Given the description of an element on the screen output the (x, y) to click on. 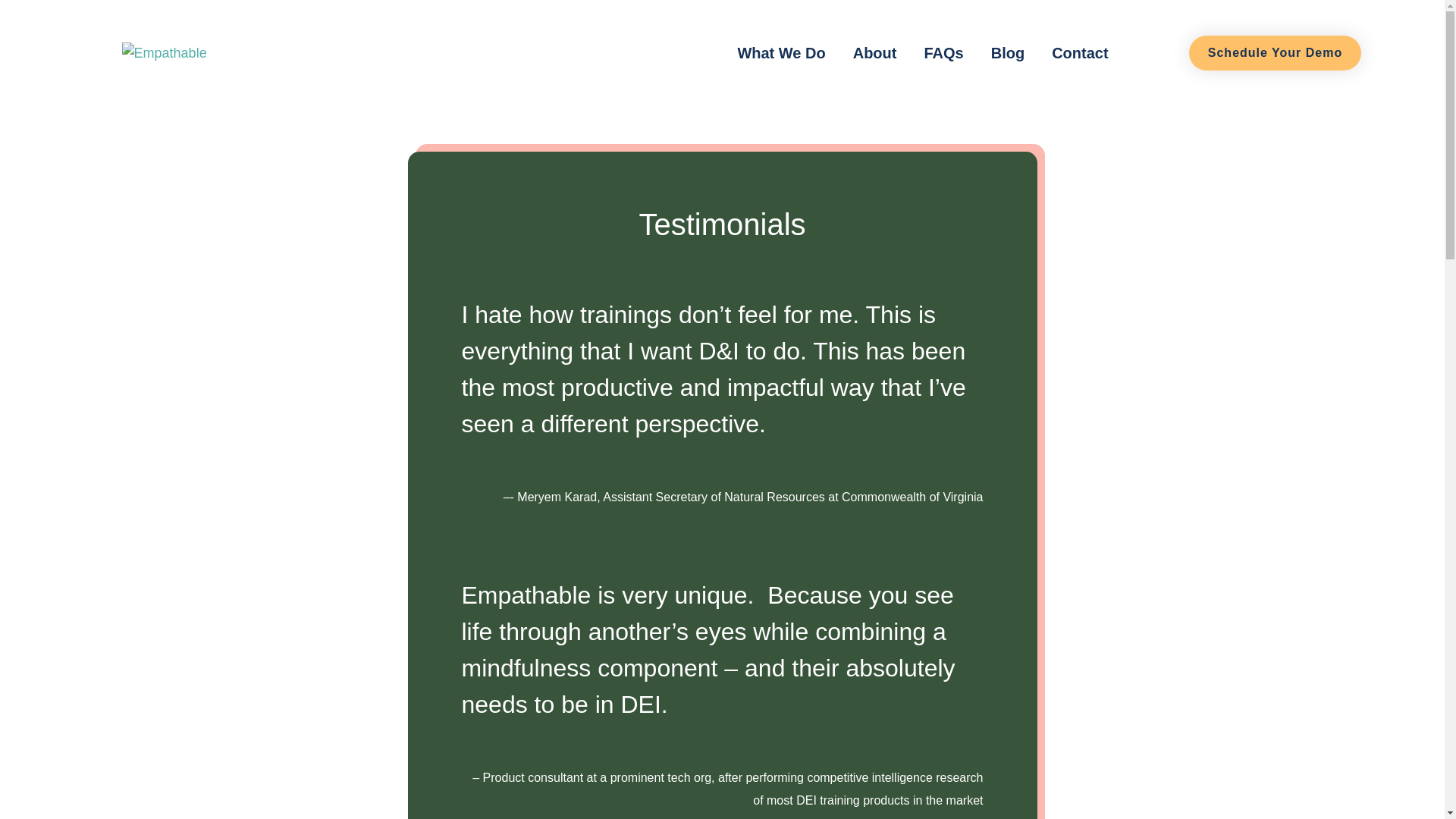
Schedule Your Demo (1275, 53)
About (874, 53)
Contact (1080, 53)
Blog (1007, 53)
What We Do (780, 53)
FAQs (943, 53)
